Given the description of an element on the screen output the (x, y) to click on. 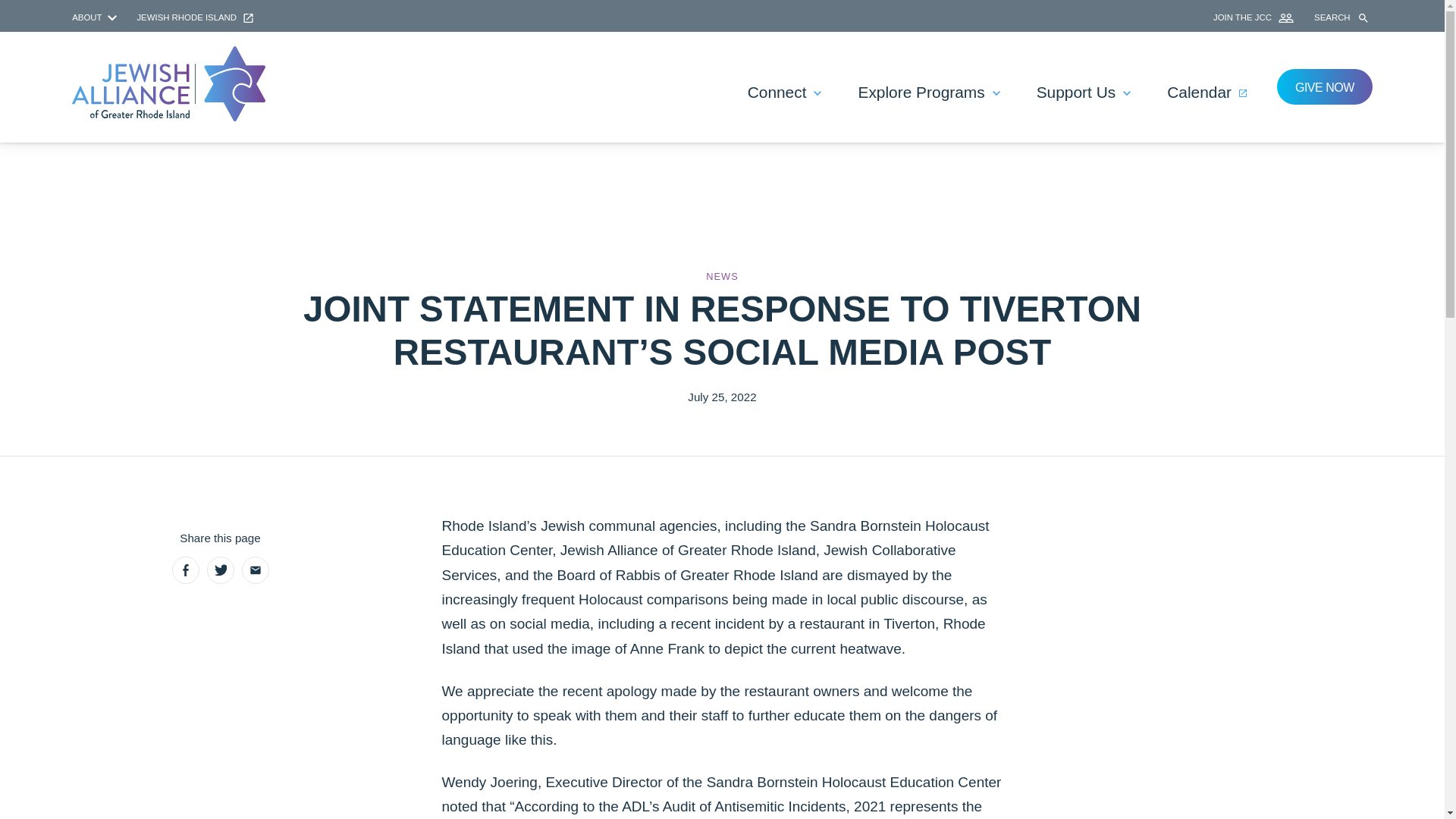
SEARCH (1343, 18)
JEWISH RHODE ISLAND (194, 17)
JOIN THE JCC (1254, 17)
Connect (784, 92)
ABOUT (95, 17)
